Given the description of an element on the screen output the (x, y) to click on. 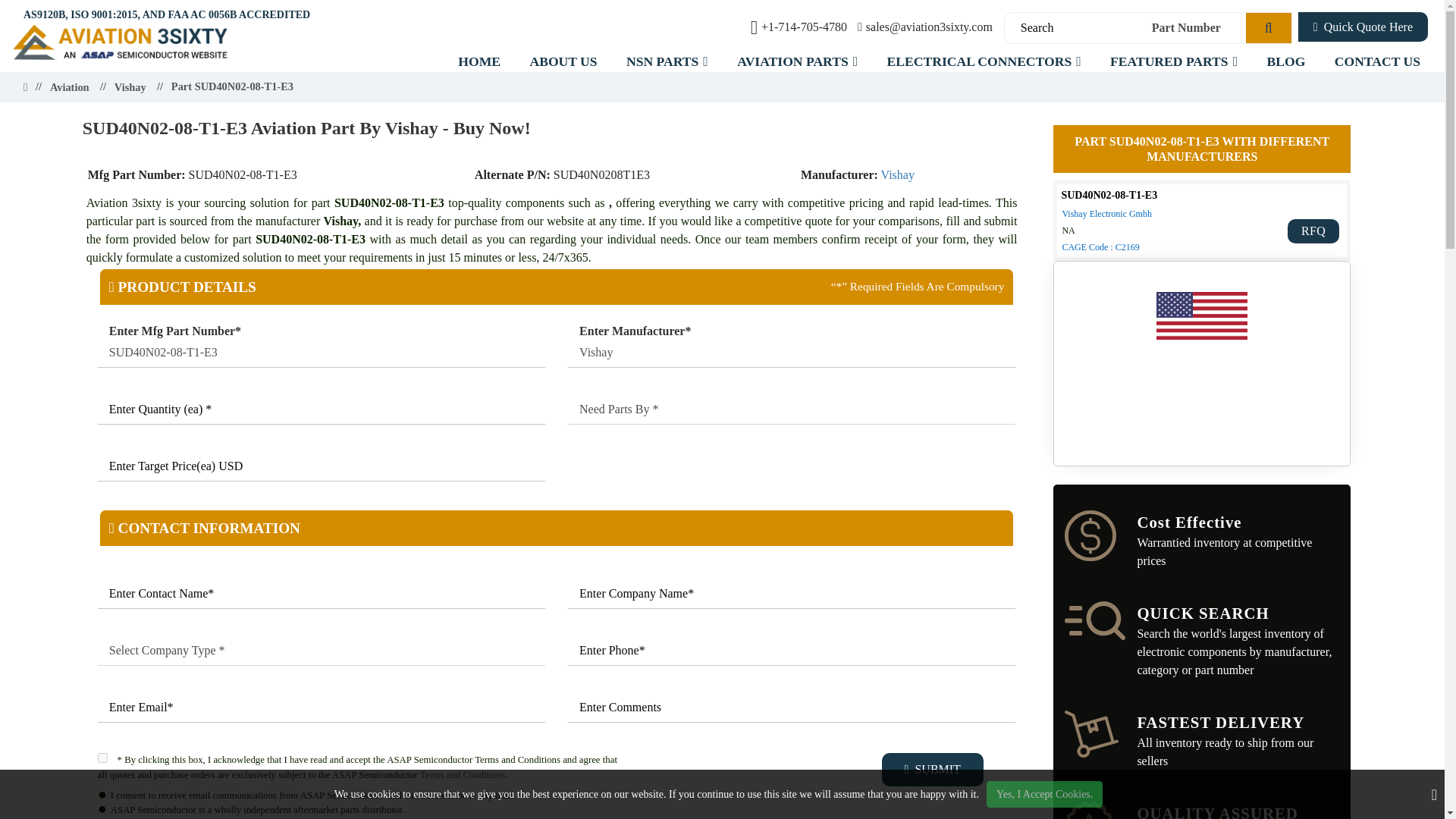
Aviation (68, 87)
ABOUT US (563, 61)
SUD40N02-08-T1-E3 (320, 352)
AVIATION PARTS (796, 61)
NSN PARTS (666, 61)
HOME (479, 61)
Vishay (790, 352)
  Quick Quote Here (1363, 26)
FEATURED PARTS (1173, 61)
on (102, 757)
CONTACT US (1377, 61)
BLOG (1285, 61)
ELECTRICAL CONNECTORS (984, 61)
